Given the description of an element on the screen output the (x, y) to click on. 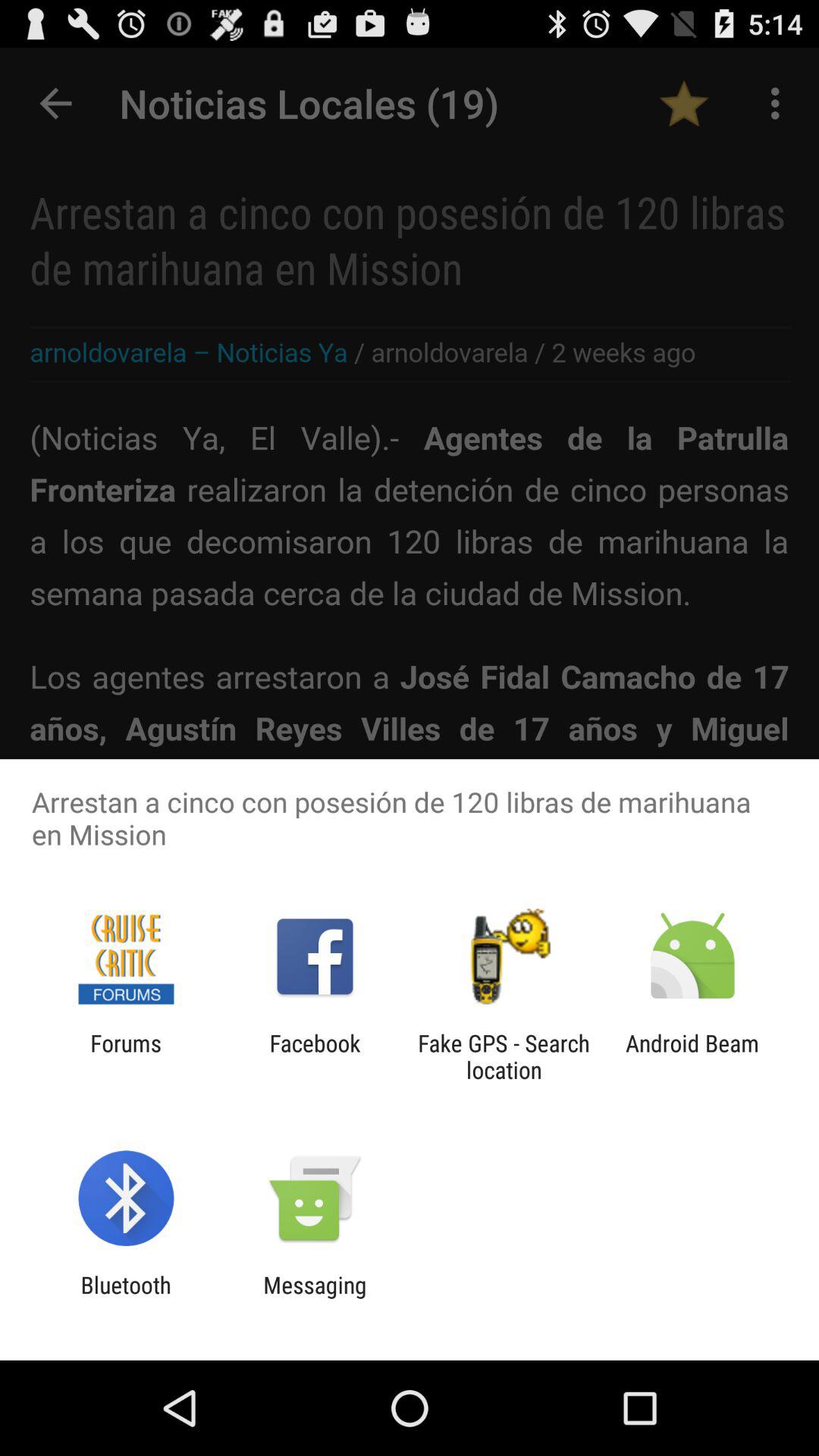
scroll until facebook item (314, 1056)
